Given the description of an element on the screen output the (x, y) to click on. 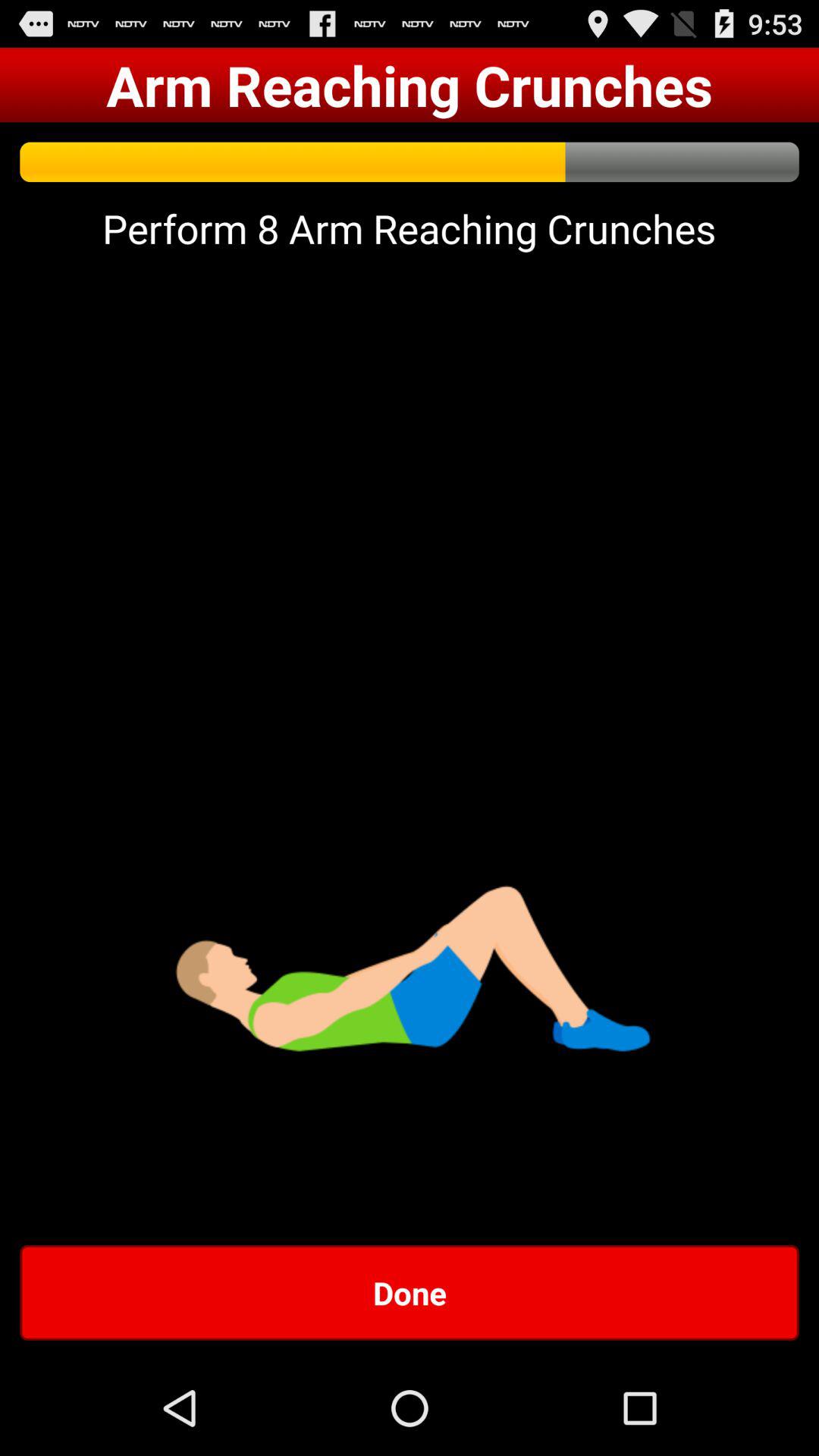
turn off the done item (409, 1292)
